Given the description of an element on the screen output the (x, y) to click on. 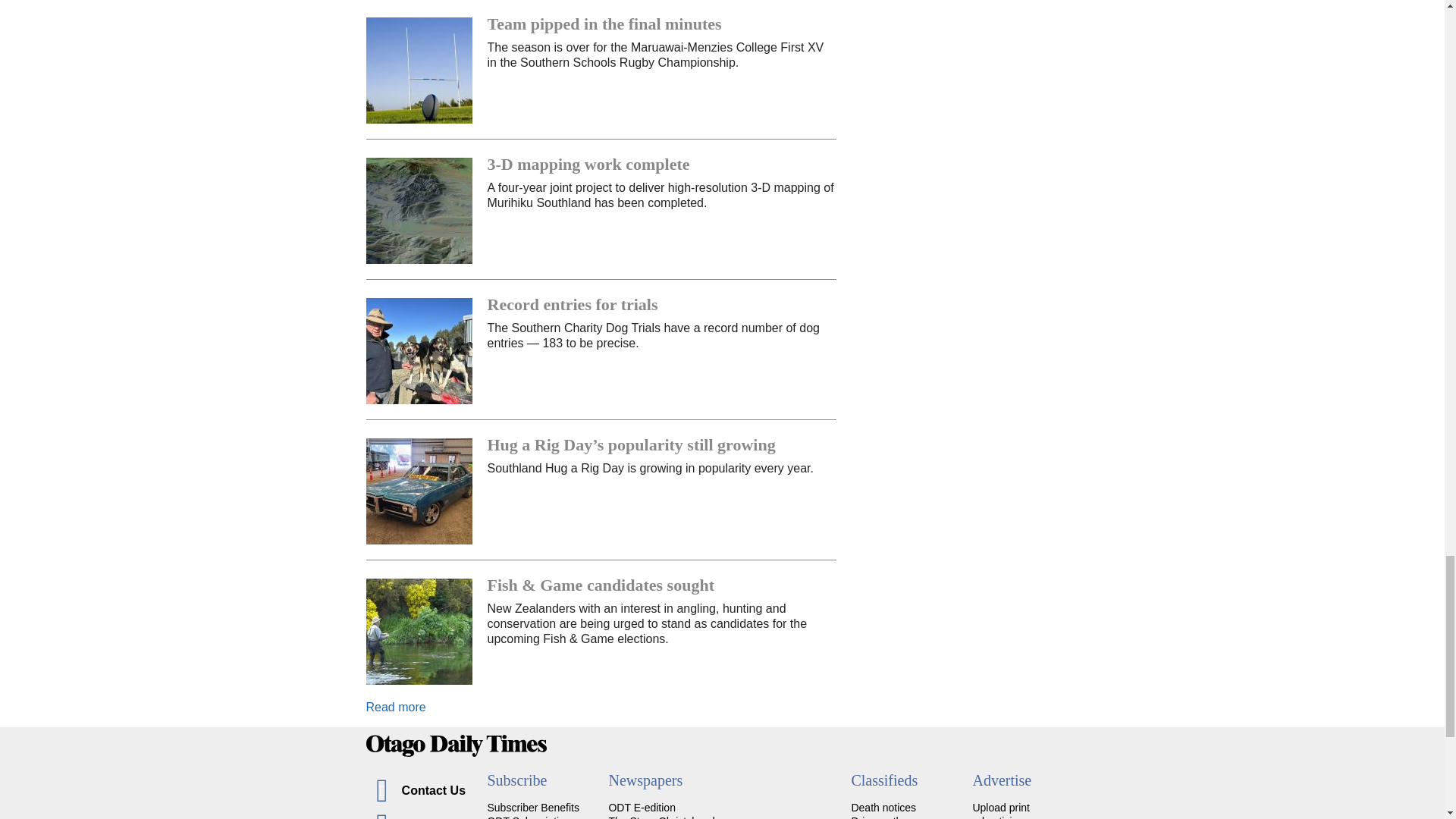
Get the ODT delivered right to you! (532, 807)
Home (721, 745)
Ways to subscribe to the Otago Daily Times (530, 816)
